Given the description of an element on the screen output the (x, y) to click on. 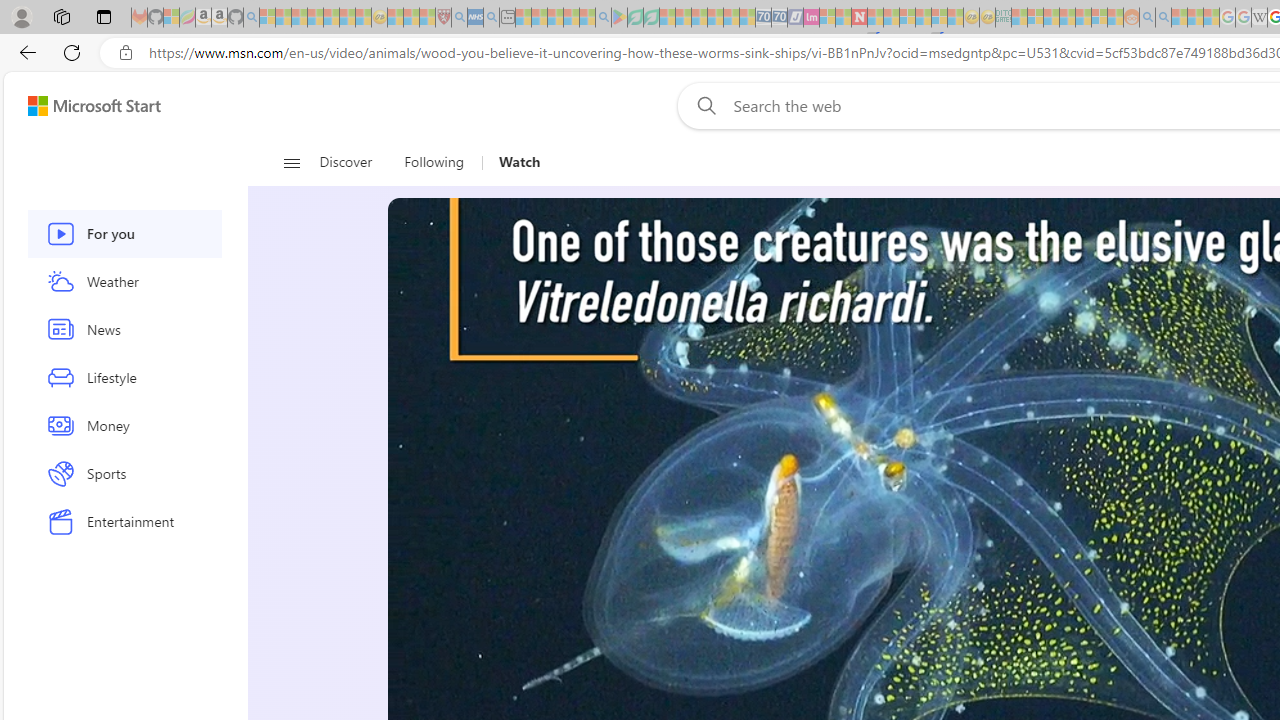
Web search (702, 105)
Pets - MSN - Sleeping (571, 17)
10 Like (422, 154)
